Given the description of an element on the screen output the (x, y) to click on. 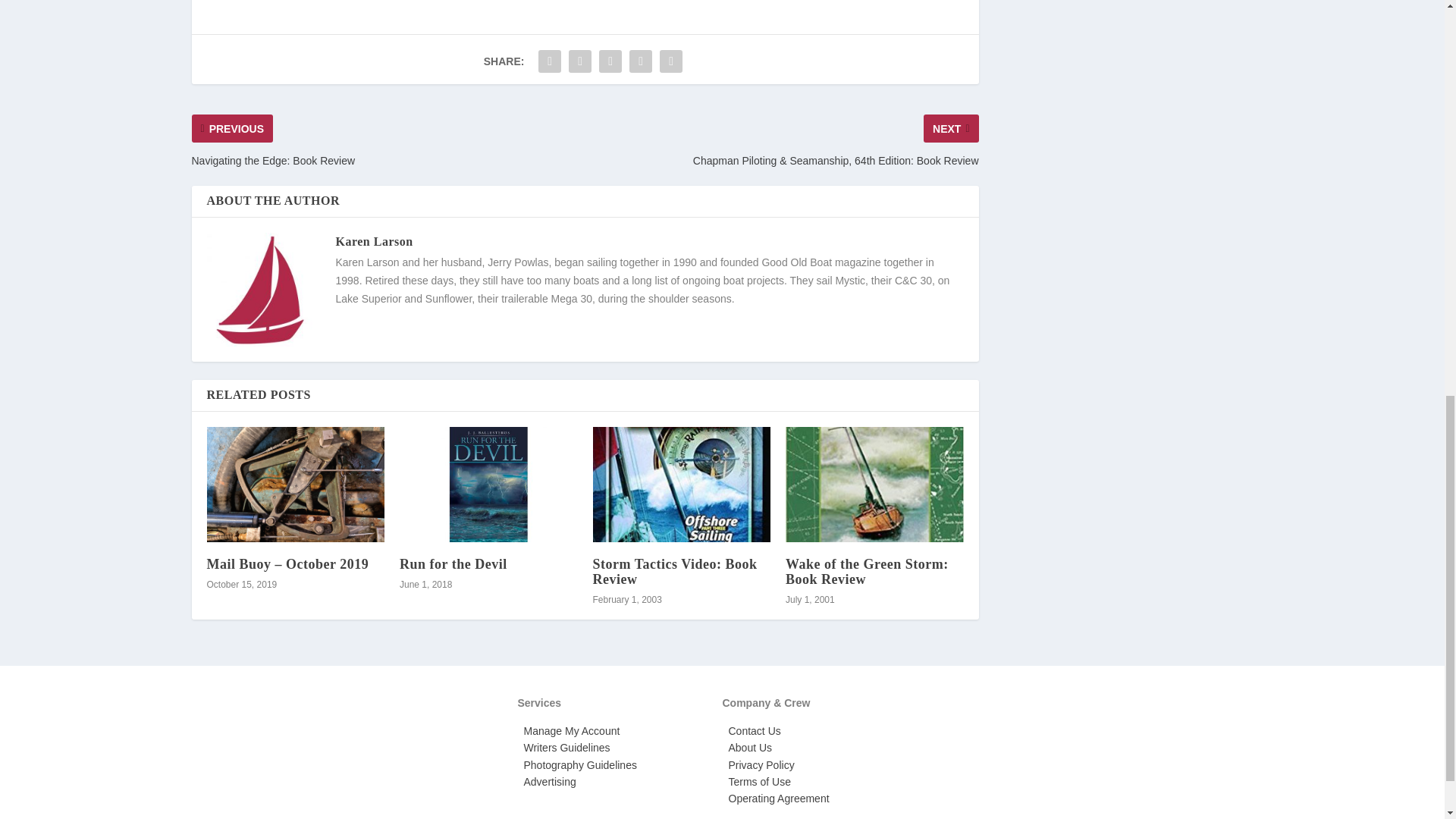
Wake of the Green Storm: Book Review (874, 484)
Share "Call of the Ancient Mariner: Book Review" via Email (641, 60)
Storm Tactics Video: Book Review (681, 484)
Share "Call of the Ancient Mariner: Book Review" via Twitter (579, 60)
Share "Call of the Ancient Mariner: Book Review" via Print (670, 60)
Run for the Devil (488, 484)
View all posts by Karen Larson (373, 241)
